Given the description of an element on the screen output the (x, y) to click on. 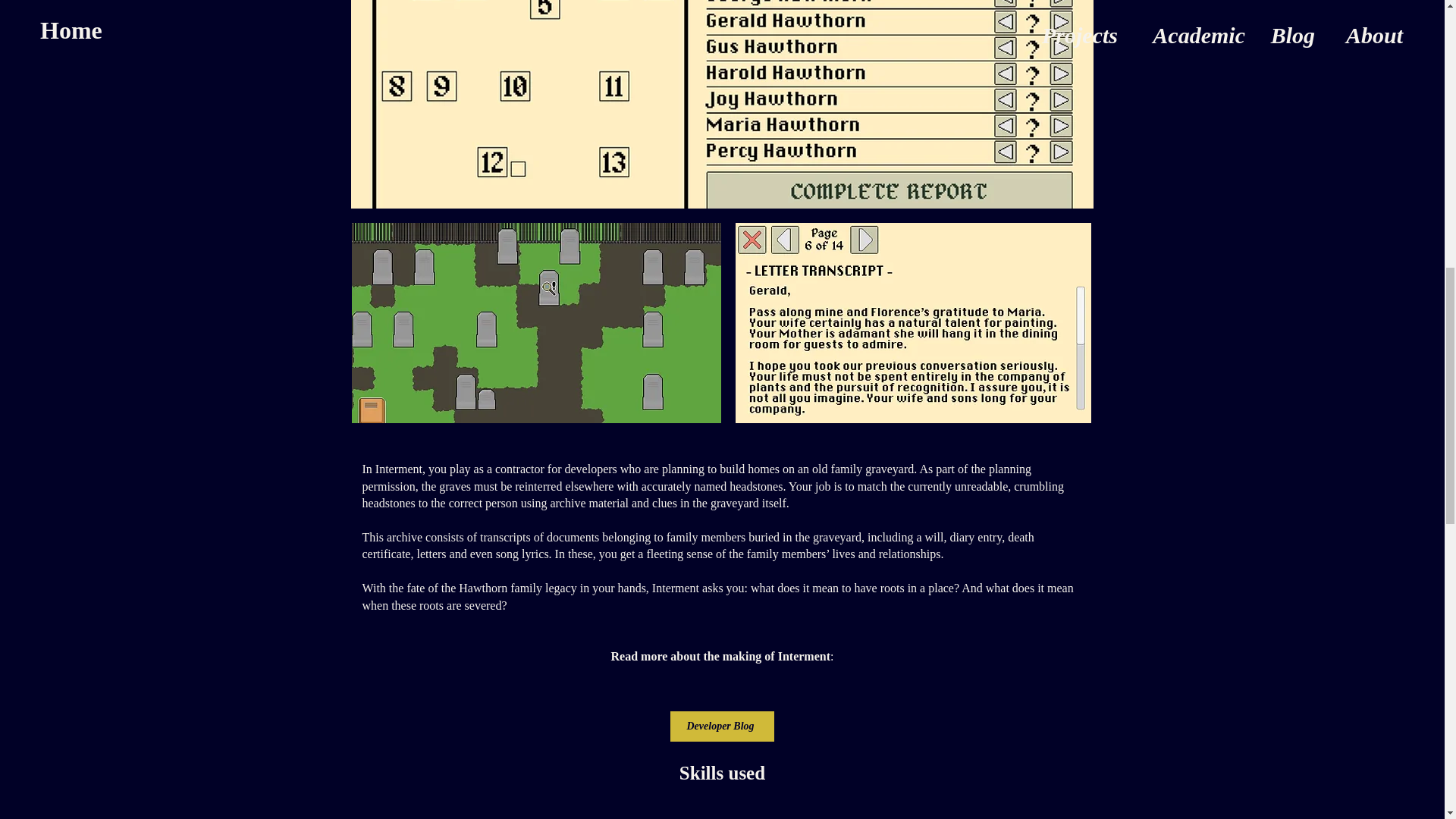
Developer Blog (721, 726)
graveyard large.jpg (536, 322)
evidence.jpg (912, 322)
